Given the description of an element on the screen output the (x, y) to click on. 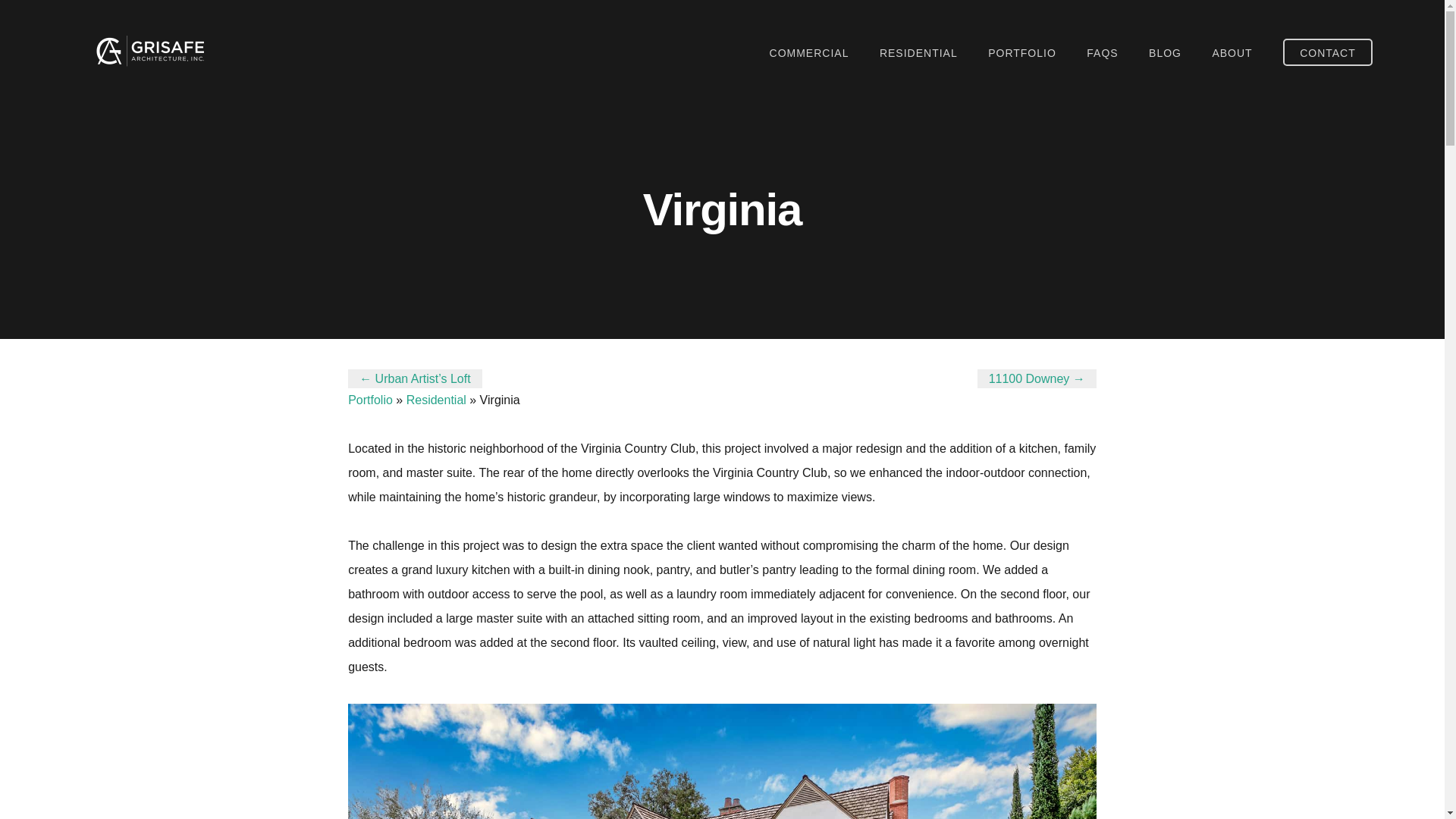
PORTFOLIO (1022, 53)
Portfolio (370, 399)
CONTACT (1327, 52)
Grisafe Architecture (147, 50)
RESIDENTIAL (918, 53)
Residential (435, 399)
COMMERCIAL (809, 53)
